Given the description of an element on the screen output the (x, y) to click on. 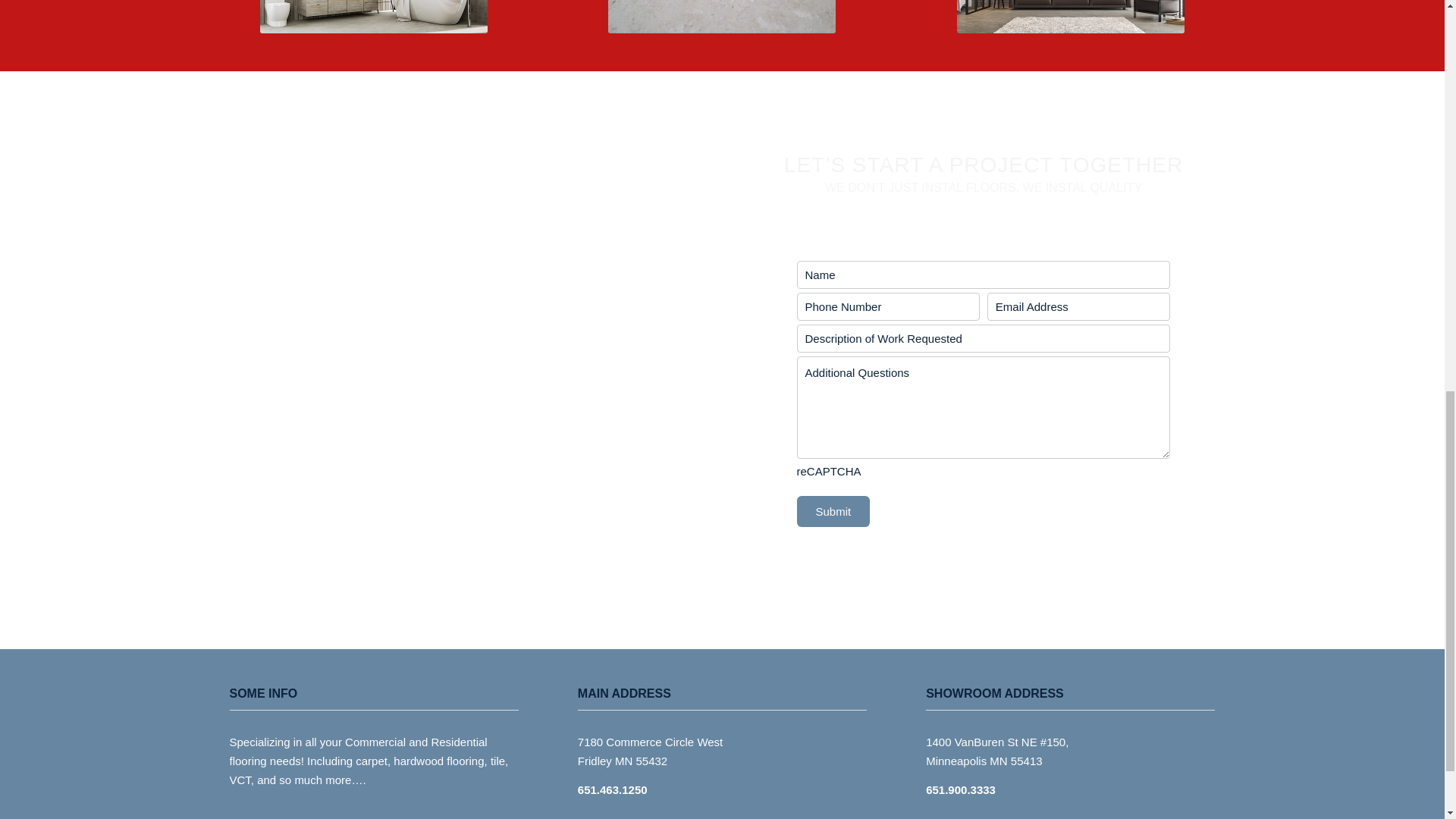
bigstock-Loft-Style-Bathroom-With-Wood--390331556 (373, 16)
bigstock-Epoxy-Floor-In-Warehouse-Facto-364560982 (721, 16)
651.900.3333 (960, 789)
Email Address (1078, 306)
Submit (832, 511)
Phone Number (887, 306)
651.463.1250 (612, 789)
bigstock-Loft-Living-Room-And-Bedroom--264410203 (1070, 16)
Submit (832, 511)
Description of Work Requested (983, 338)
